Given the description of an element on the screen output the (x, y) to click on. 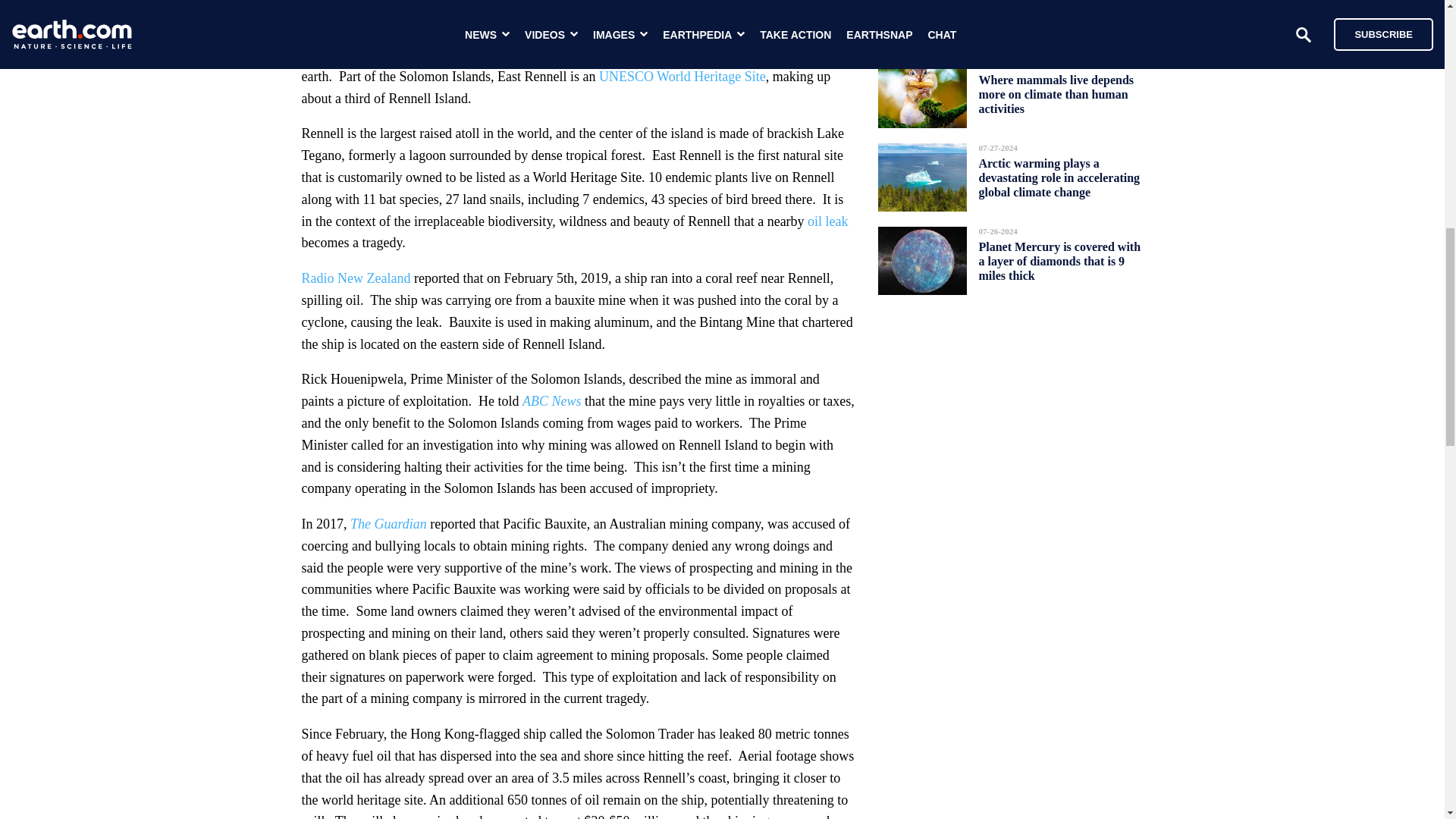
oil leak (827, 221)
ABC News (551, 400)
oceans surrounding (379, 10)
UNESCO World Heritage Site (681, 76)
Radio New Zealand (355, 278)
The Guardian (388, 523)
